Given the description of an element on the screen output the (x, y) to click on. 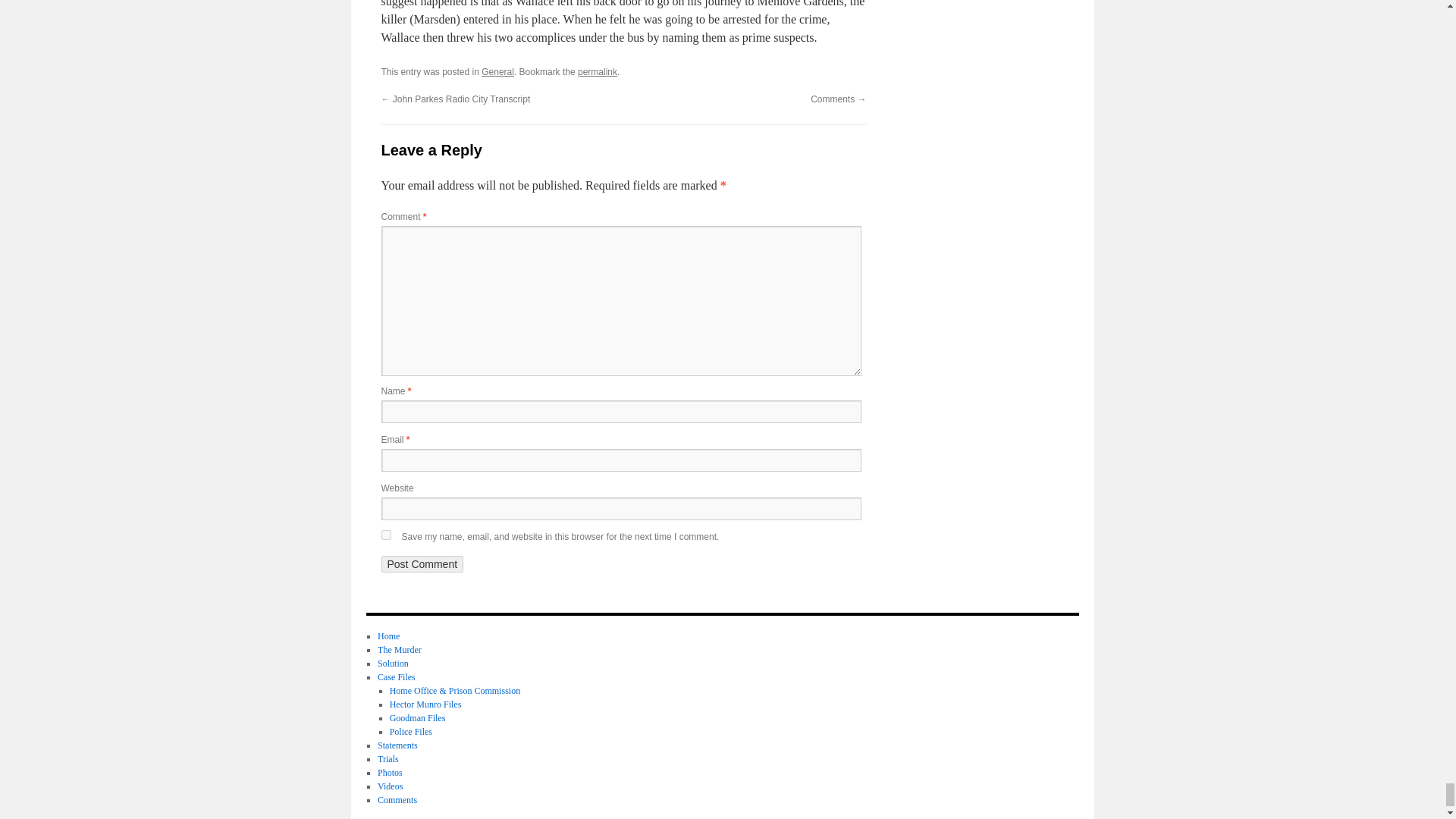
yes (385, 534)
General (497, 71)
Permalink to Reconstruction Backup (597, 71)
Post Comment (421, 564)
